Given the description of an element on the screen output the (x, y) to click on. 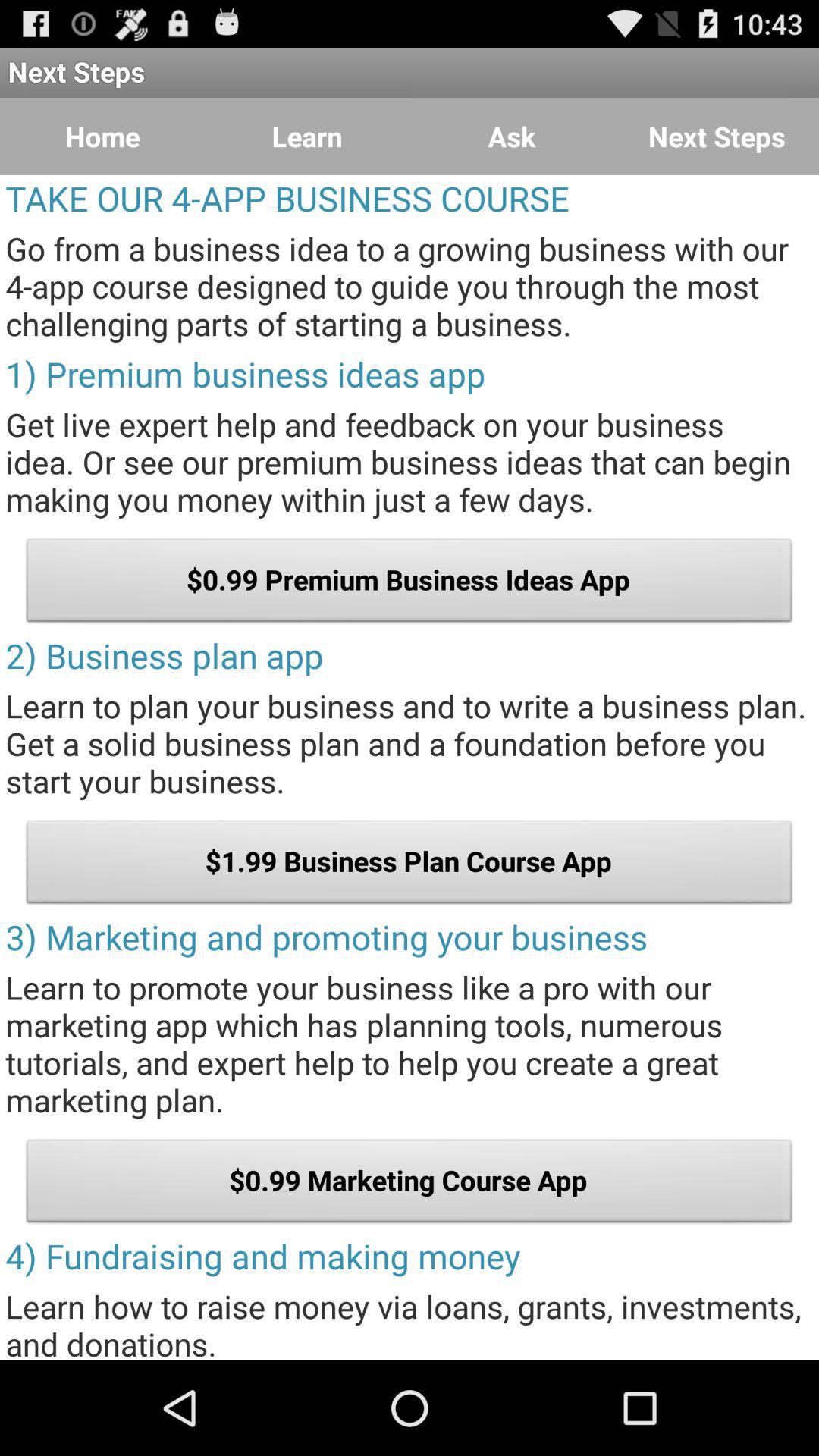
tap icon next to next steps item (511, 136)
